Given the description of an element on the screen output the (x, y) to click on. 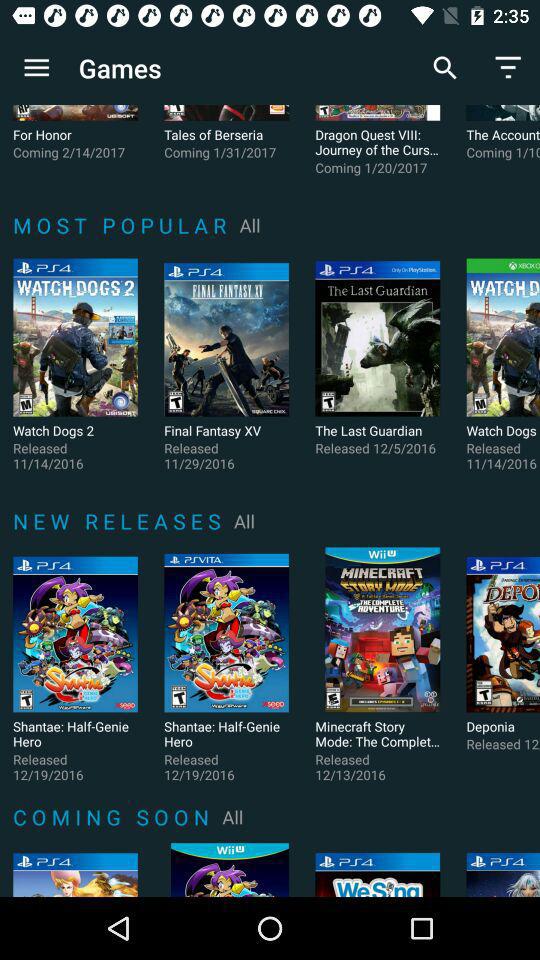
launch the icon next to the games item (36, 68)
